Given the description of an element on the screen output the (x, y) to click on. 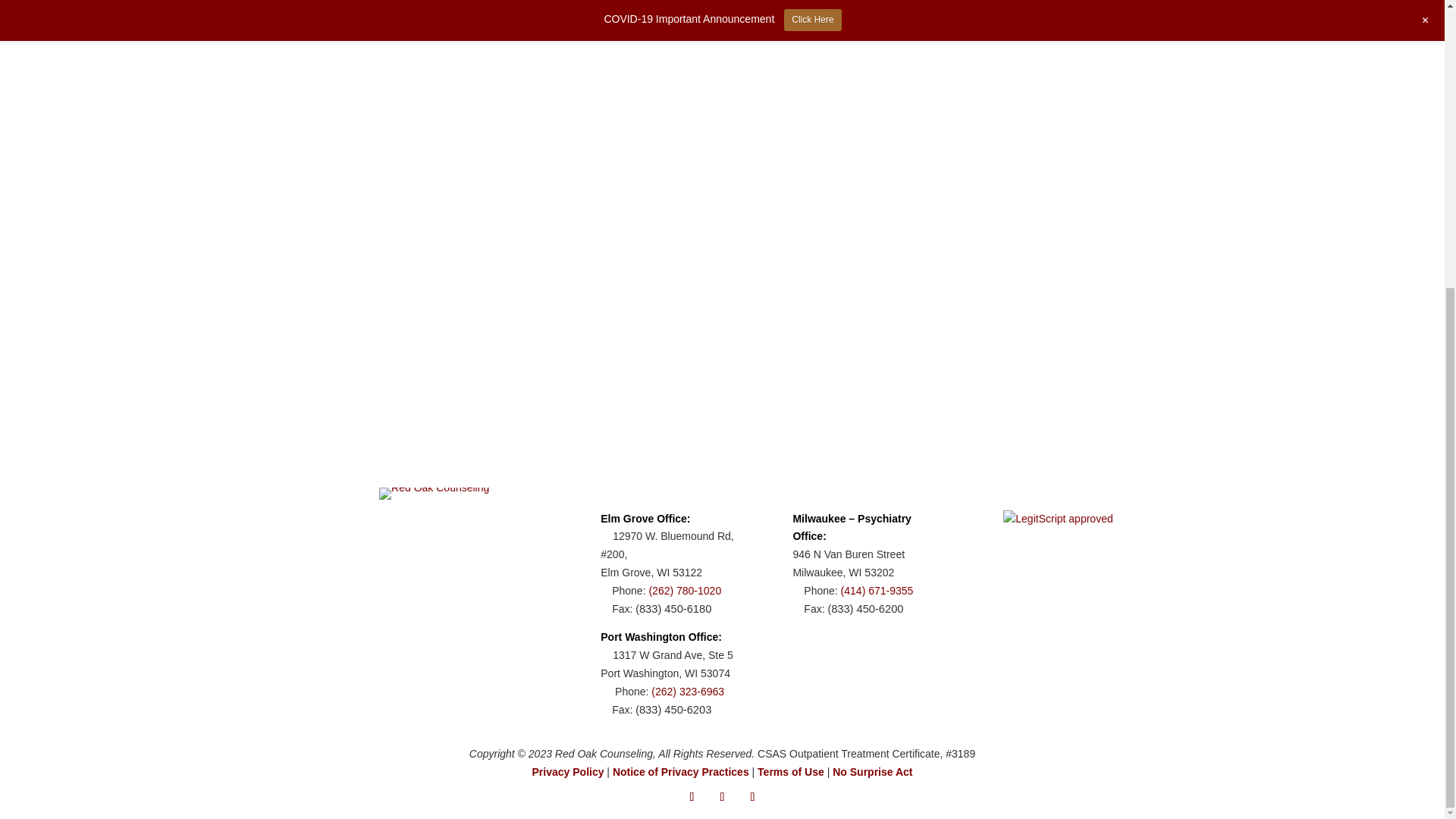
Red-Oak-Counseling-of-Wisconsin (433, 493)
Follow on X (721, 796)
Follow on Facebook (691, 796)
Follow on LinkedIn (751, 796)
Verify LegitScript Approval (1057, 518)
